Given the description of an element on the screen output the (x, y) to click on. 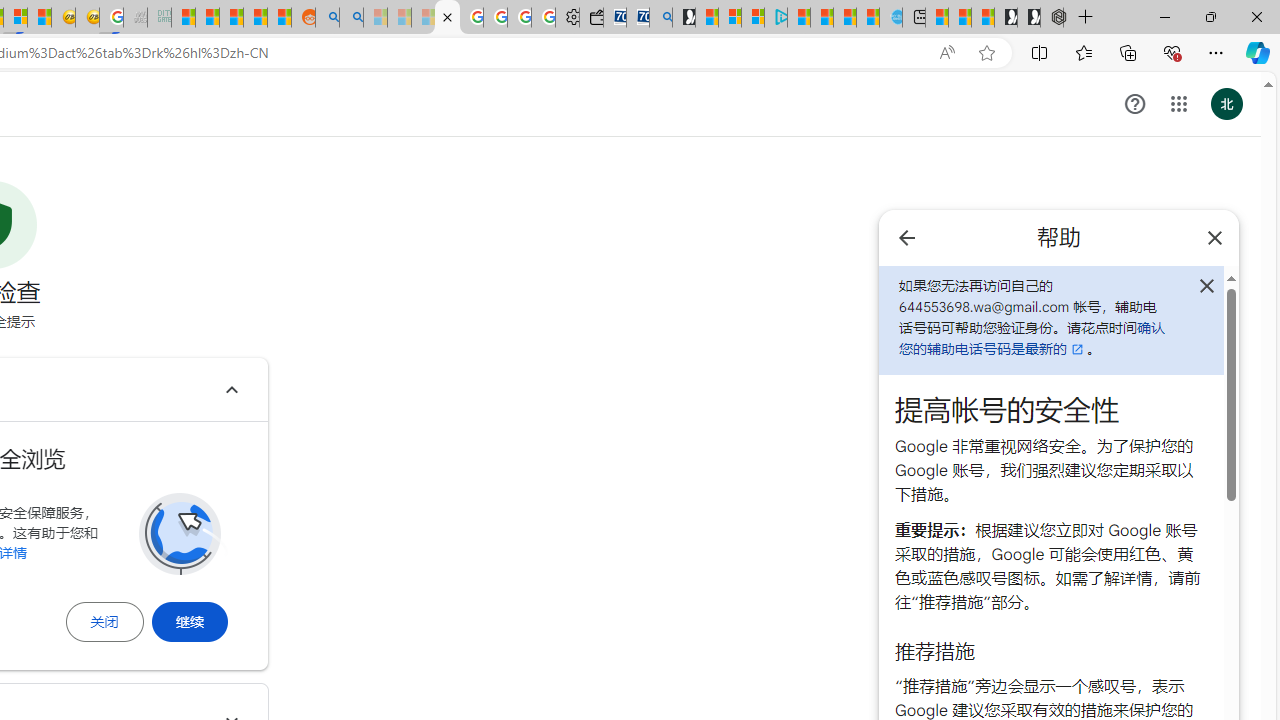
Cheap Car Rentals - Save70.com (637, 17)
Wallet (590, 17)
